Given the description of an element on the screen output the (x, y) to click on. 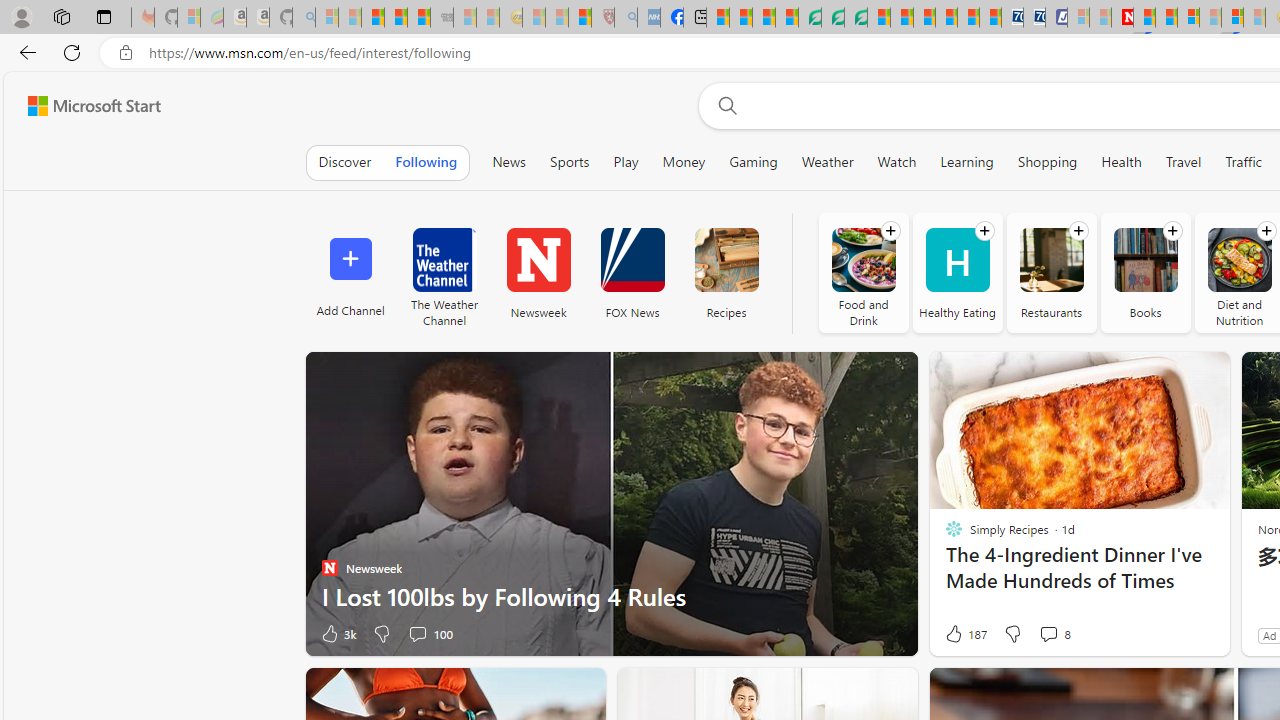
Diet and Nutrition (1239, 260)
Cheap Hotels - Save70.com (1034, 17)
The Weather Channel (444, 272)
Terms of Use Agreement (832, 17)
Healthy Eating (957, 272)
